Given the description of an element on the screen output the (x, y) to click on. 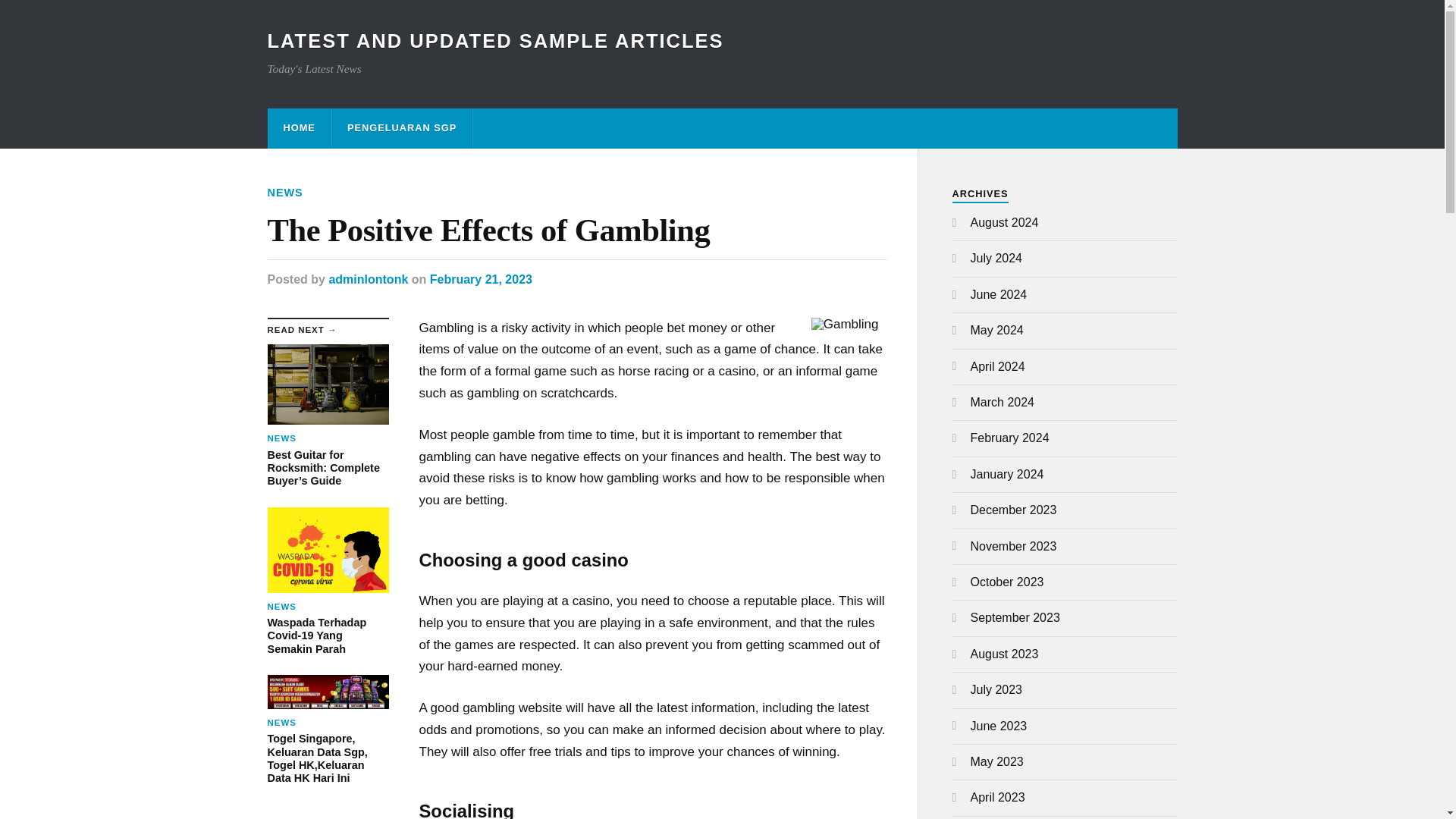
May 2024 (997, 329)
January 2024 (1007, 473)
June 2023 (999, 725)
NEWS (284, 192)
August 2024 (1005, 222)
March 2024 (1003, 401)
LATEST AND UPDATED SAMPLE ARTICLES (494, 40)
July 2023 (997, 689)
April 2023 (998, 797)
April 2024 (998, 366)
